Given the description of an element on the screen output the (x, y) to click on. 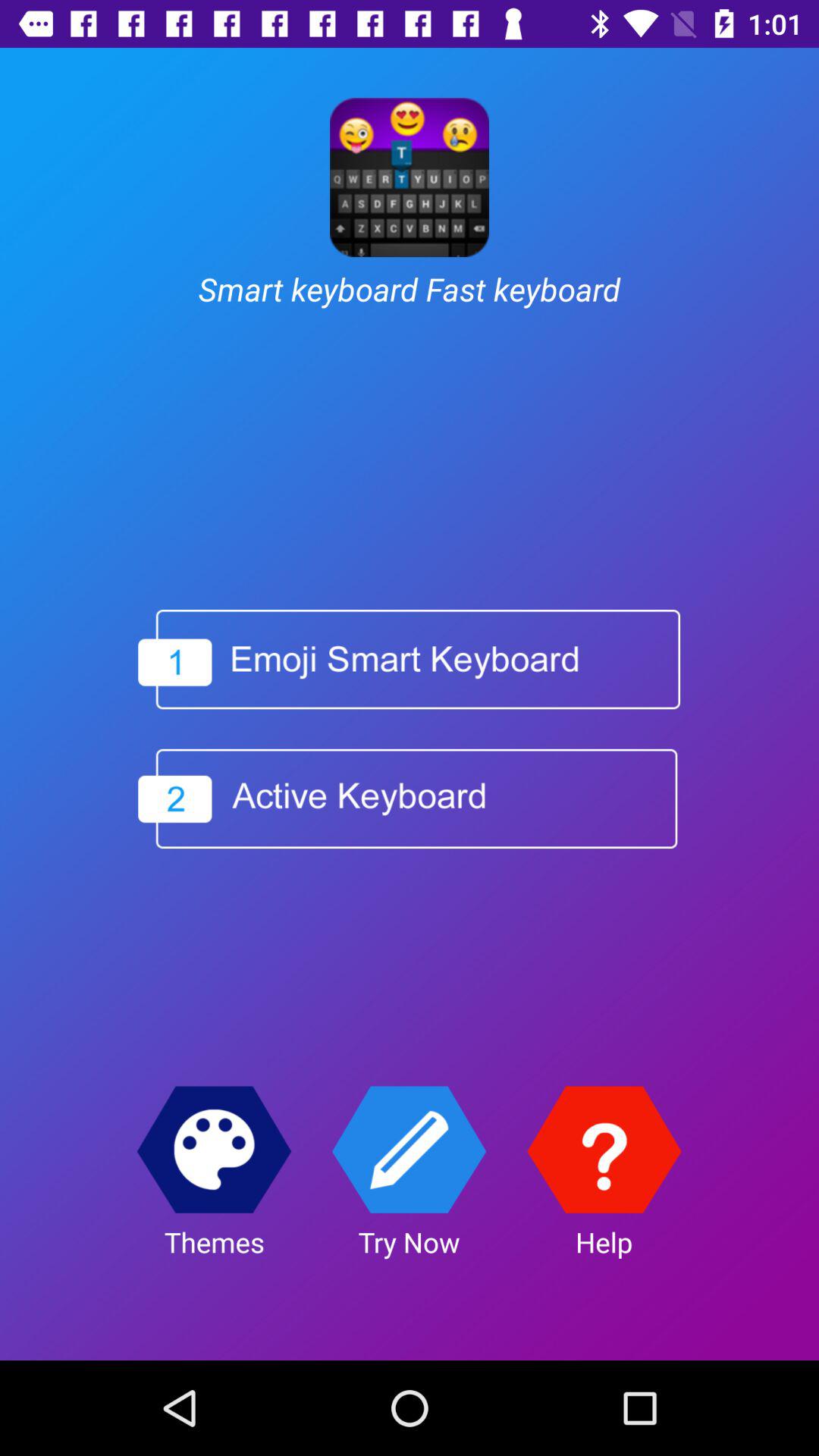
press the icon above try now (408, 1149)
